Given the description of an element on the screen output the (x, y) to click on. 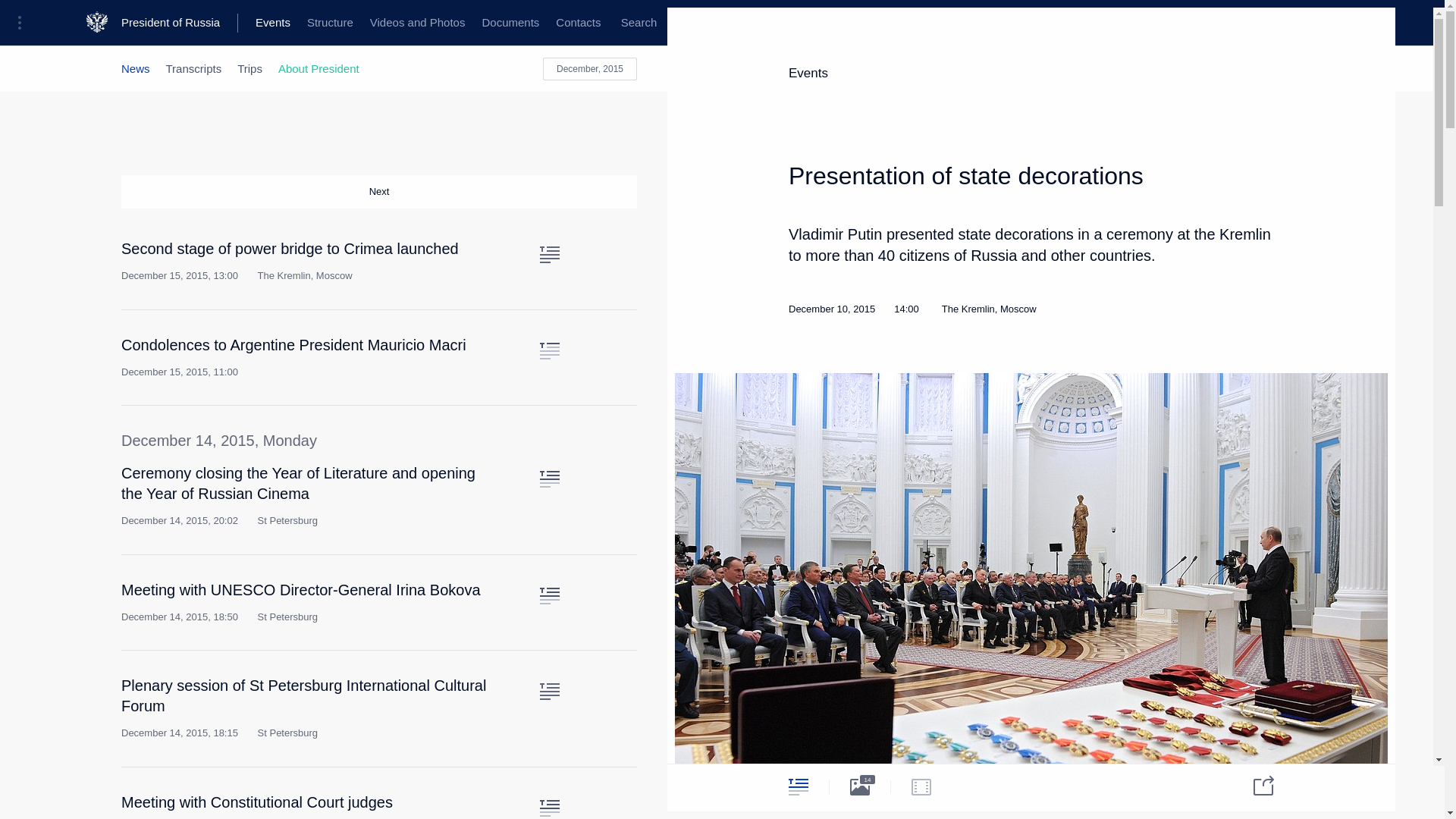
Global website search (638, 22)
About President (318, 68)
Next (378, 191)
Contacts (577, 22)
Search (638, 22)
Text of the article (549, 596)
Text of the article (549, 691)
Text of the article (549, 478)
Text of the article (549, 254)
Portal Menu (24, 22)
Text of the article (549, 808)
Structure (329, 22)
